Given the description of an element on the screen output the (x, y) to click on. 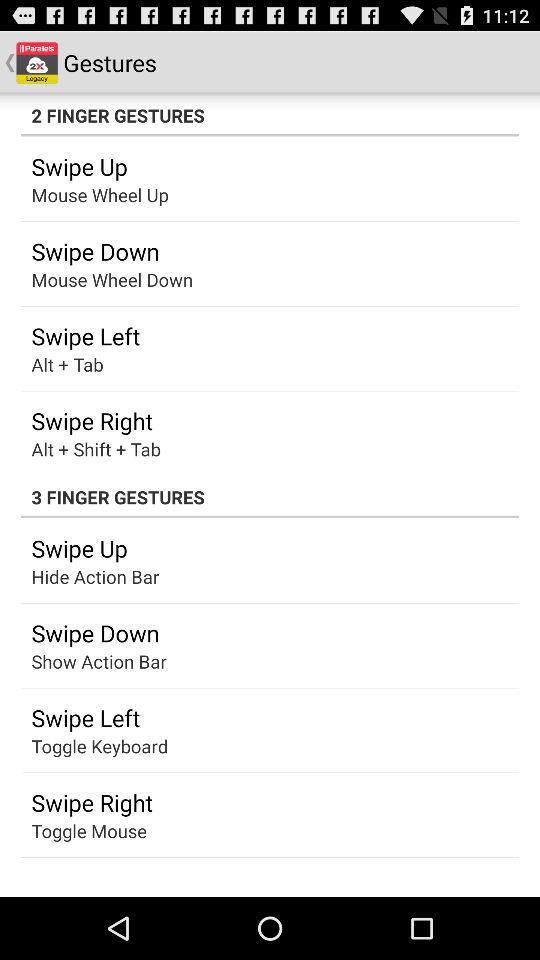
click the item above swipe left app (80, 661)
